Given the description of an element on the screen output the (x, y) to click on. 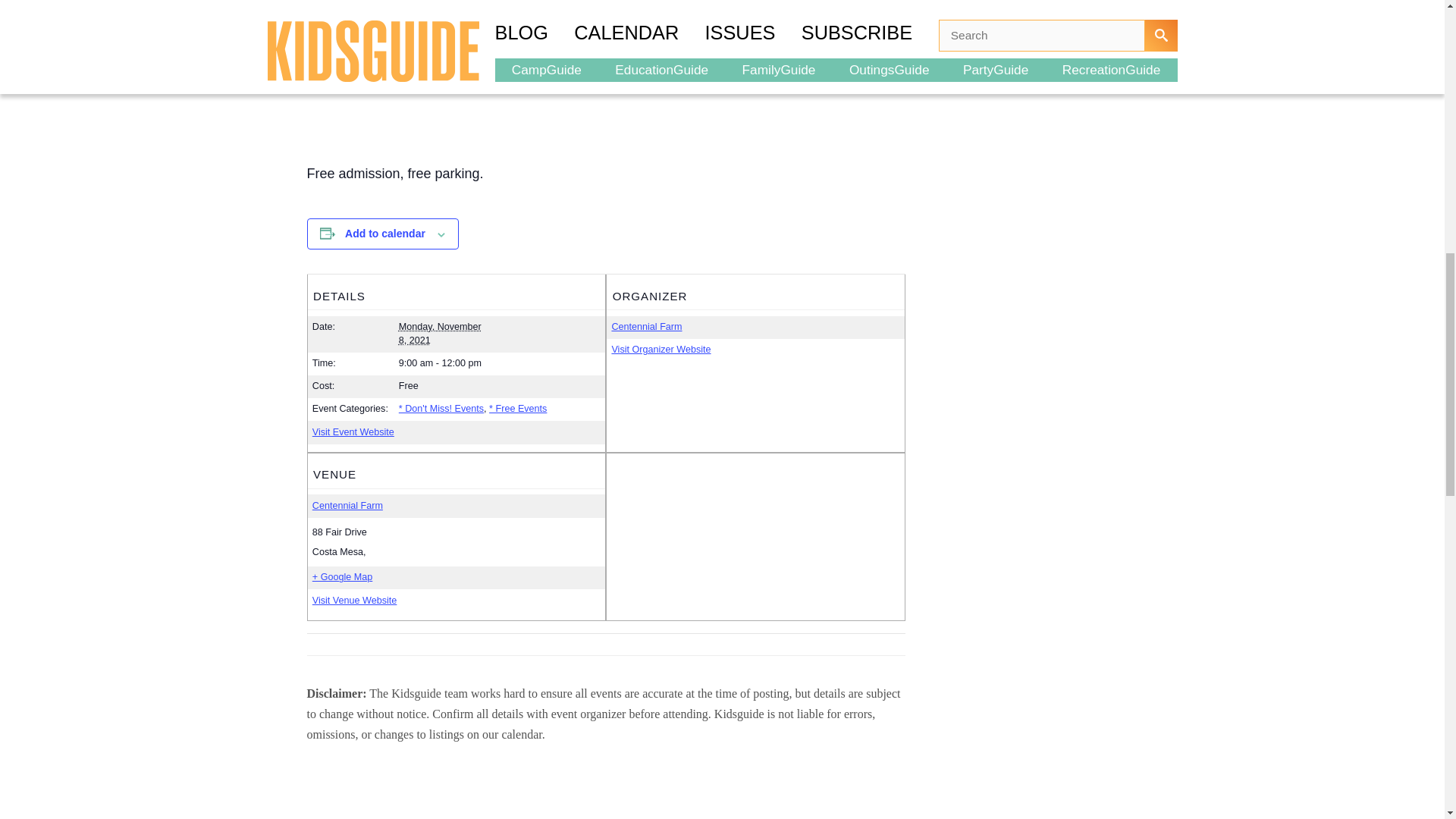
2021-11-08 (498, 364)
Click to view a Google Map (342, 577)
Centennial Farm (646, 326)
2021-11-08 (439, 333)
